Given the description of an element on the screen output the (x, y) to click on. 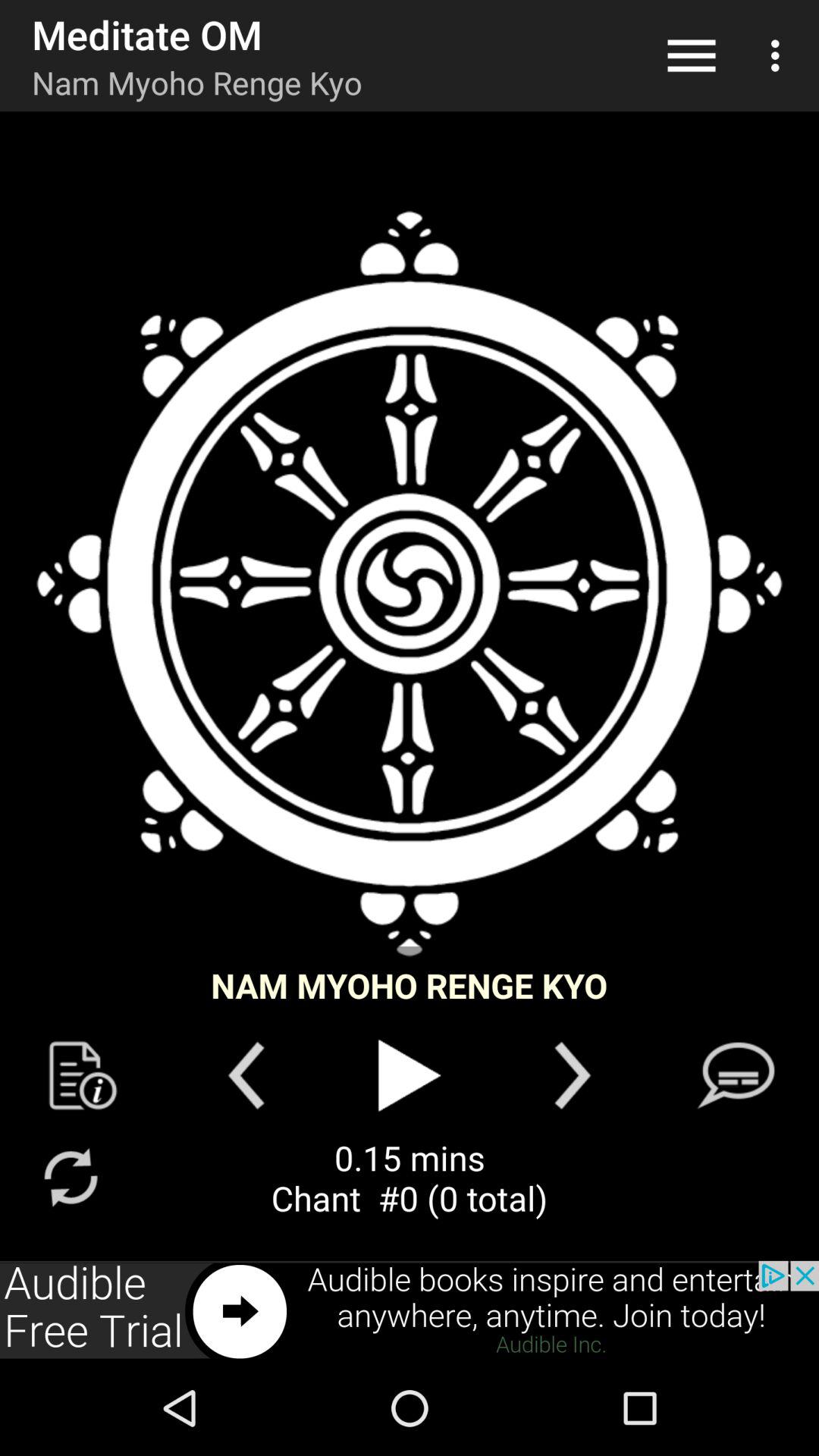
open text option (735, 1075)
